Given the description of an element on the screen output the (x, y) to click on. 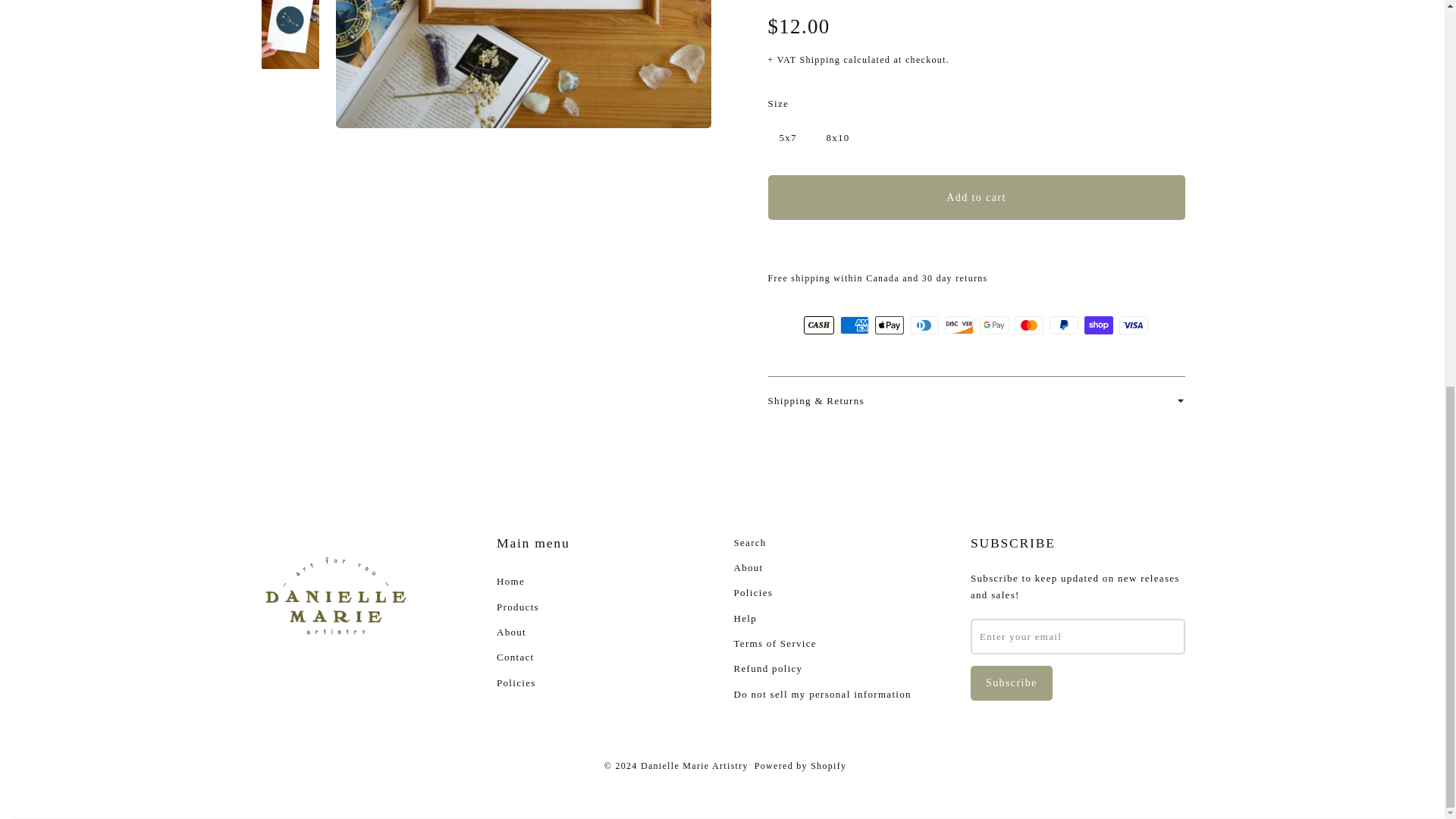
PayPal (1063, 325)
Apple Pay (889, 325)
American Express (854, 325)
Google Pay (994, 325)
Shop Pay (1098, 325)
Diners Club (924, 325)
Visa (1133, 325)
Discover (959, 325)
Mastercard (1028, 325)
